Given the description of an element on the screen output the (x, y) to click on. 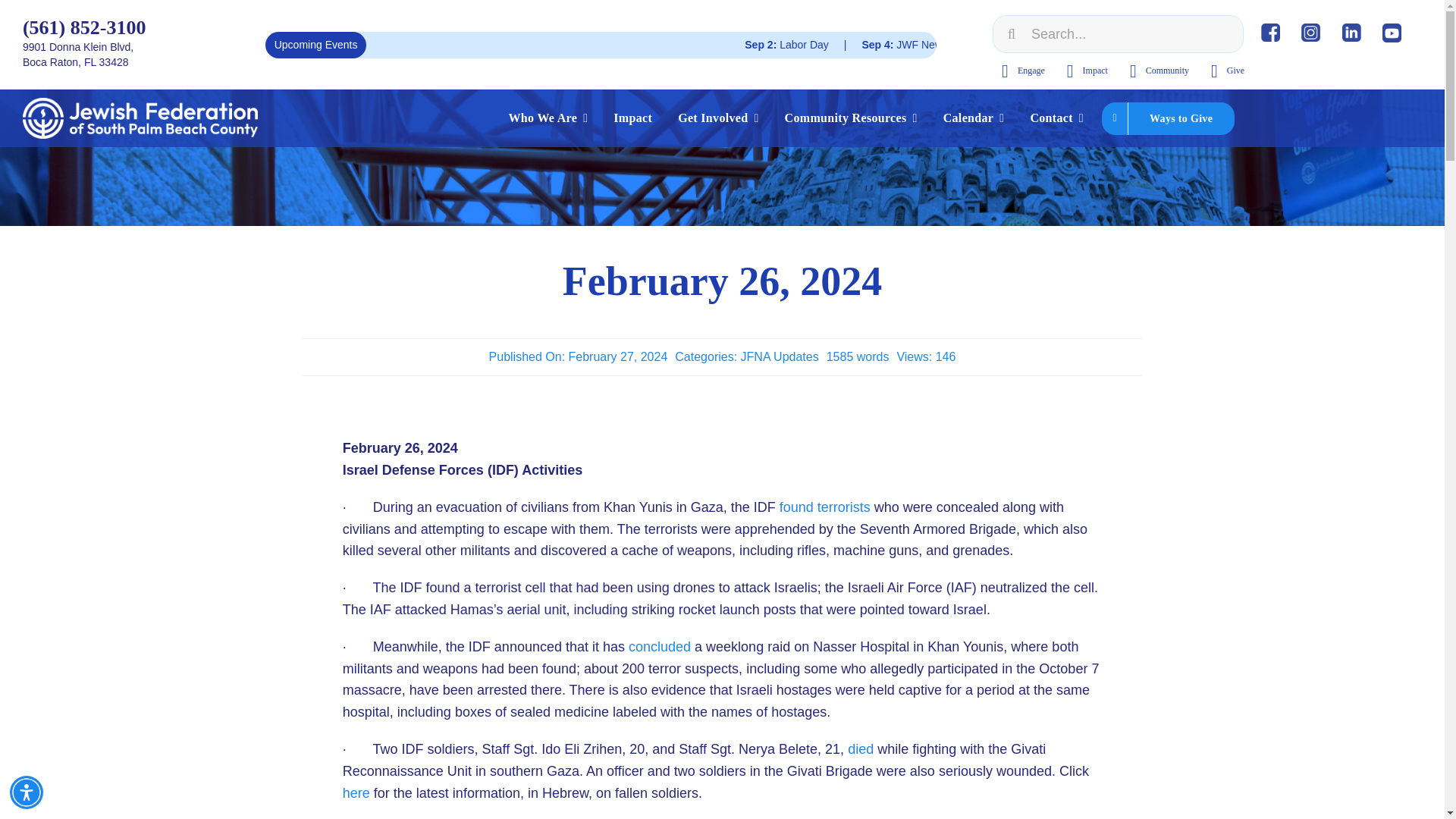
Engage (1018, 70)
Impact (1083, 70)
Sep 2: Labor Day (966, 44)
Impact (632, 118)
Get Involved (717, 118)
Contact Us (1056, 118)
Who We Are (547, 118)
Accessibility Menu (26, 792)
Give (1223, 70)
Community (1155, 70)
